Given the description of an element on the screen output the (x, y) to click on. 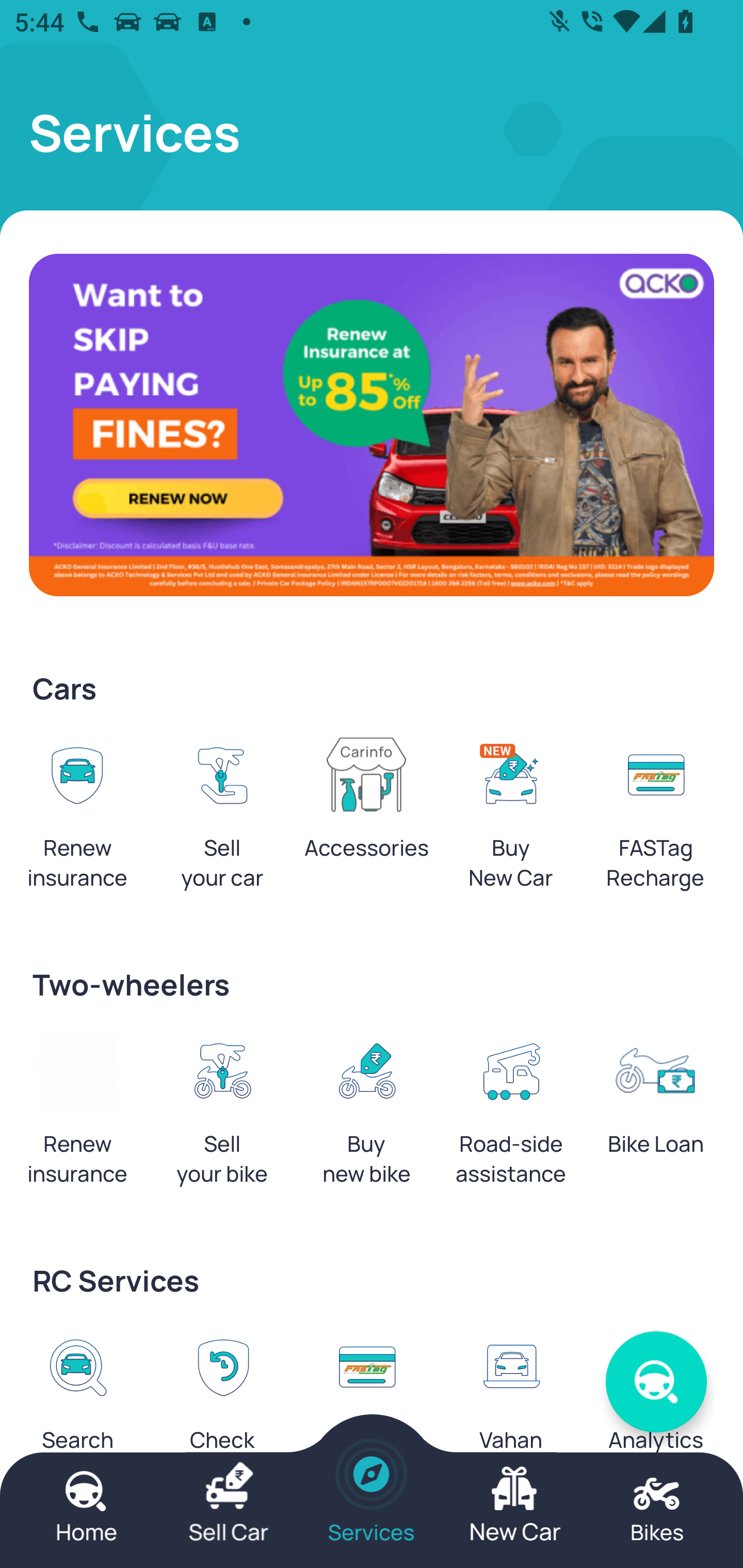
Renew
insurance (77, 818)
Sell
your car (221, 818)
Accessories (366, 803)
Buy
New Car (510, 818)
FASTag Recharge (655, 818)
Renew
insurance (77, 1114)
Sell
your bike (221, 1114)
Buy
new bike (366, 1114)
Road-side
assistance (510, 1114)
Bike Loan (655, 1099)
Search vehicle (77, 1410)
Check insurance (221, 1410)
Check FASTag (366, 1410)
Vahan services (510, 1410)
